Given the description of an element on the screen output the (x, y) to click on. 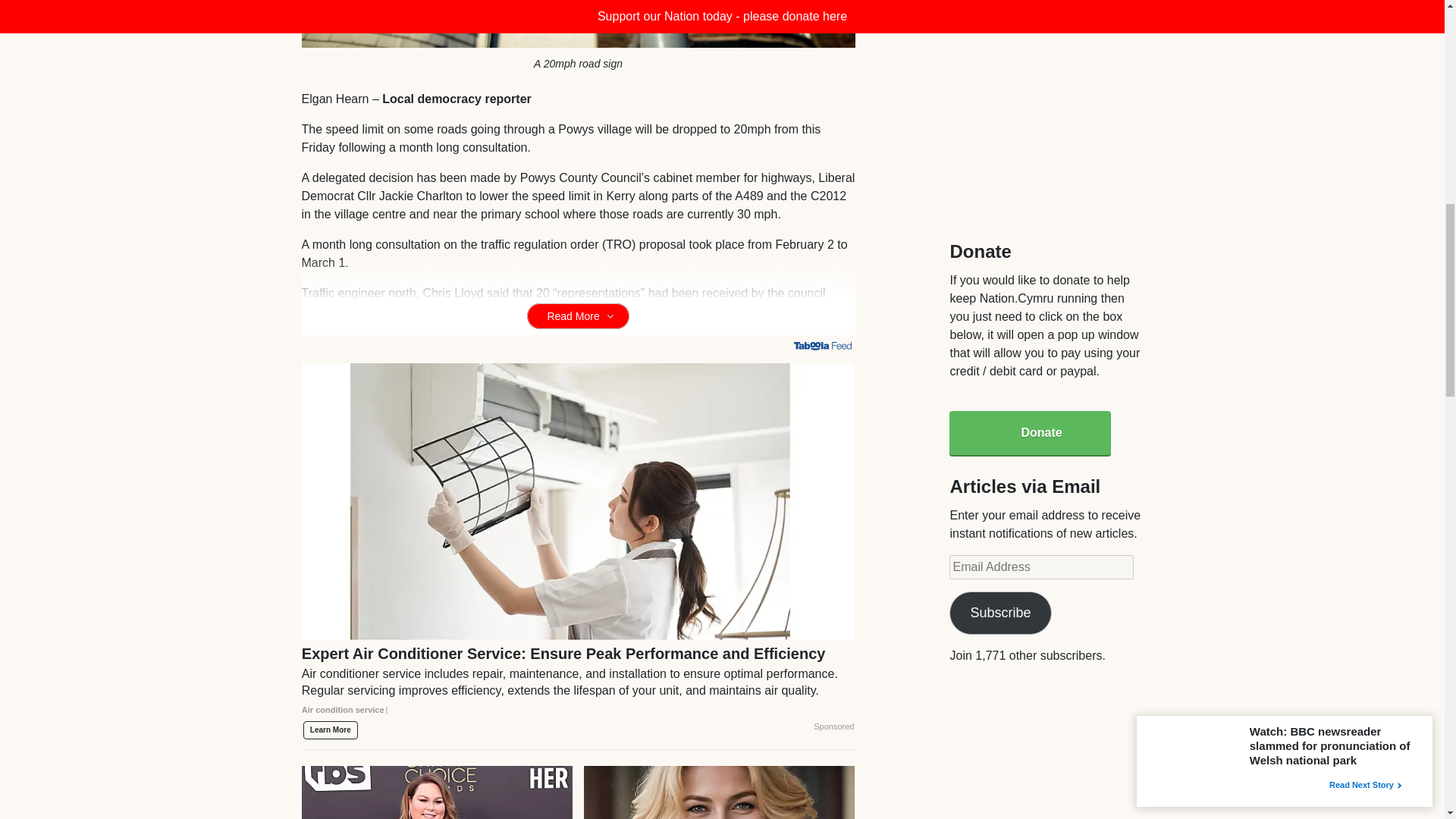
Learn More (330, 730)
Read More (577, 316)
Sponsored (833, 727)
